Given the description of an element on the screen output the (x, y) to click on. 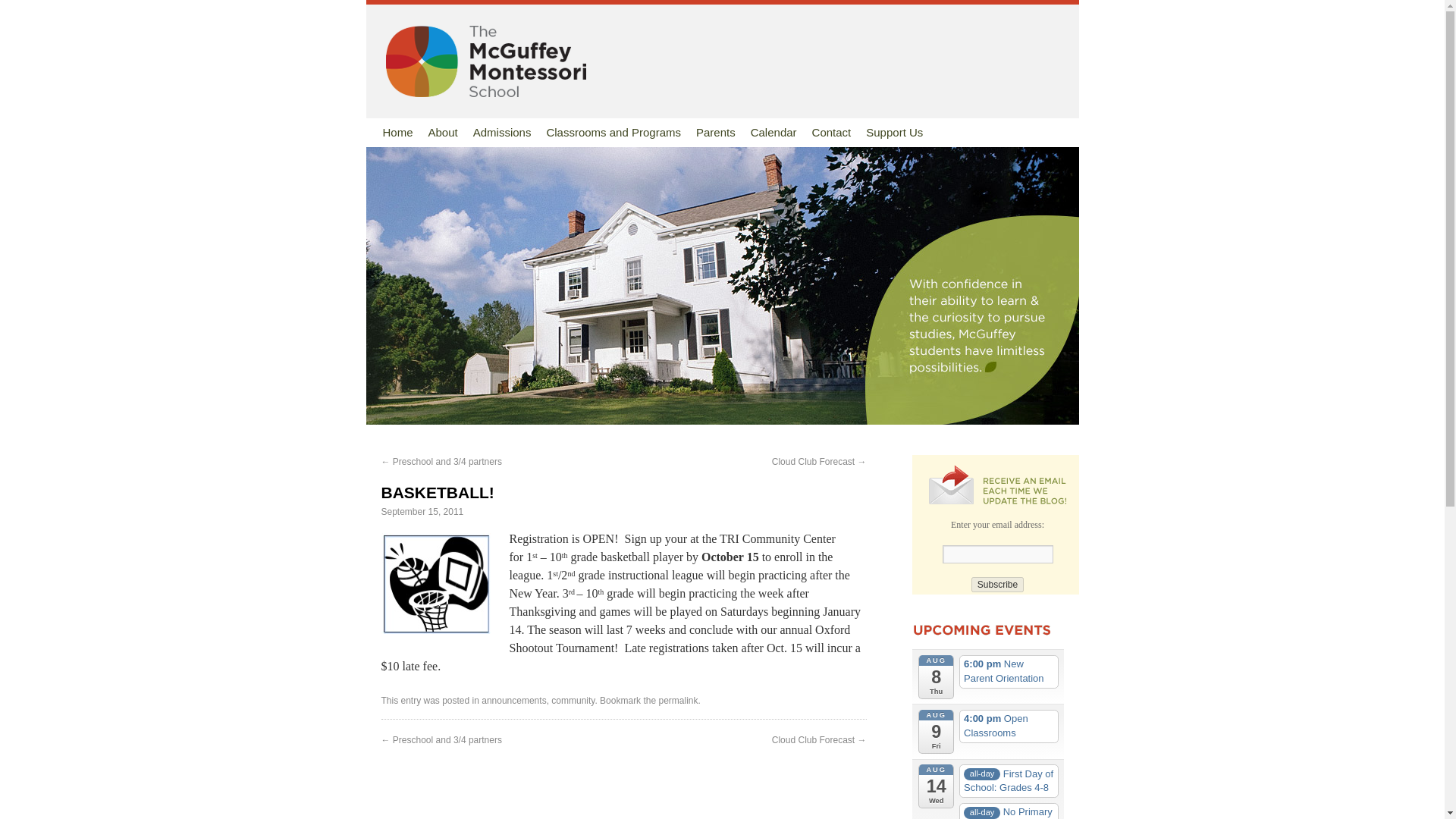
Subscribe (997, 584)
Home (397, 132)
Contact (832, 132)
7:09 pm (421, 511)
Classrooms and Programs (613, 132)
Calendar (773, 132)
Admissions (501, 132)
About (442, 132)
Support Us (894, 132)
Permalink to Basketball! (677, 700)
McGuffey Montessori (478, 60)
Parents (715, 132)
